Given the description of an element on the screen output the (x, y) to click on. 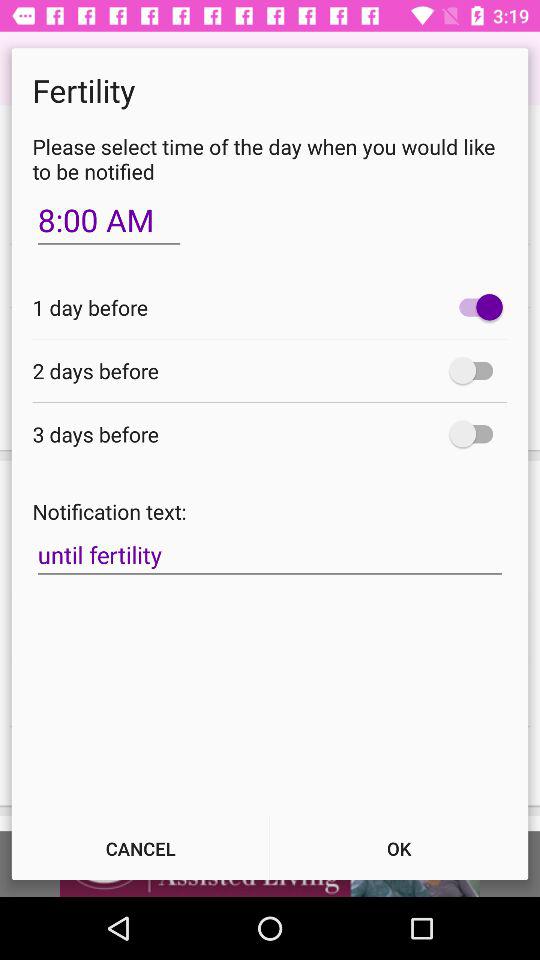
turn on icon to the right of the 1 day before icon (476, 307)
